Given the description of an element on the screen output the (x, y) to click on. 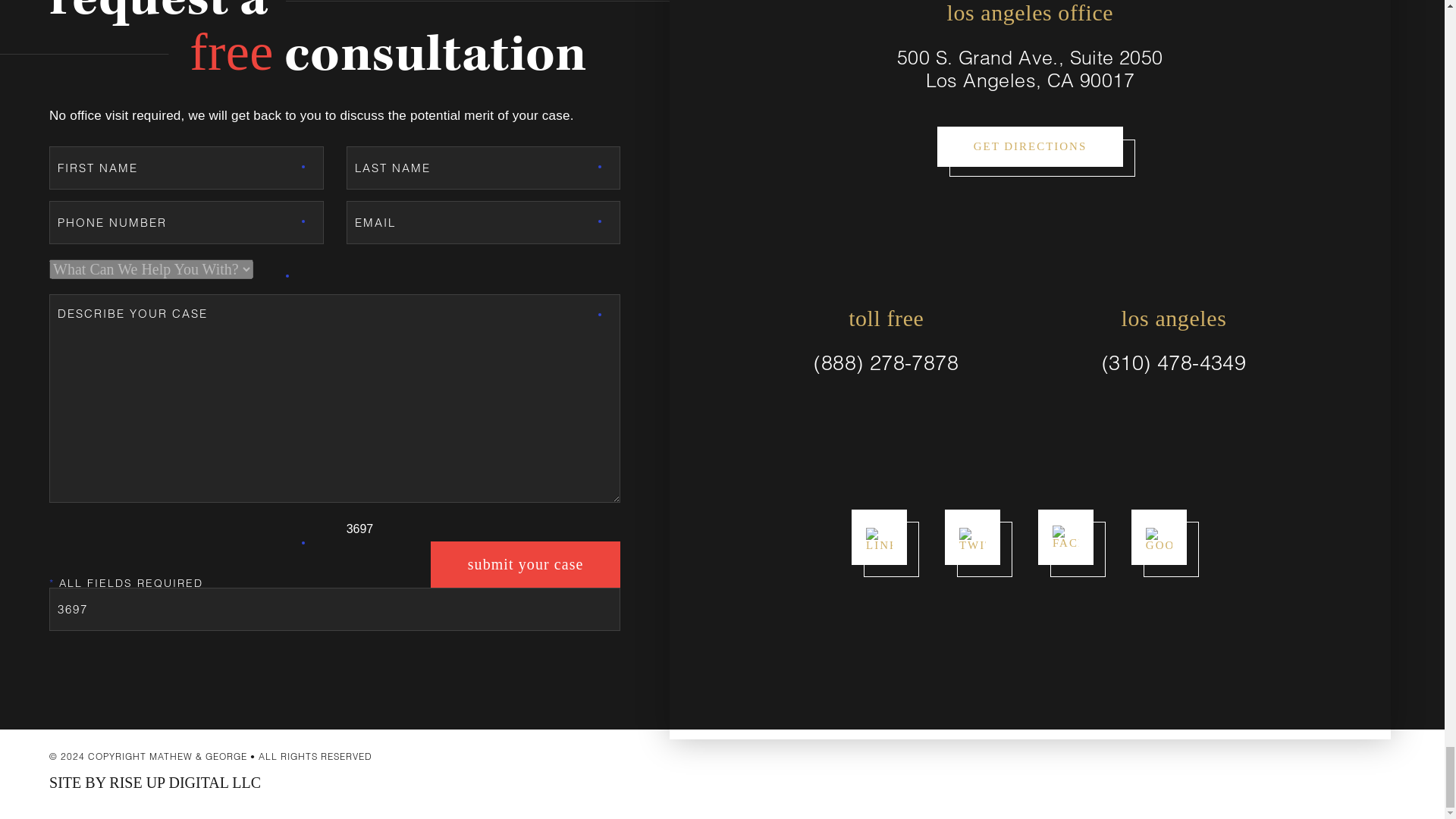
3697 (334, 609)
submit your case (525, 564)
